Given the description of an element on the screen output the (x, y) to click on. 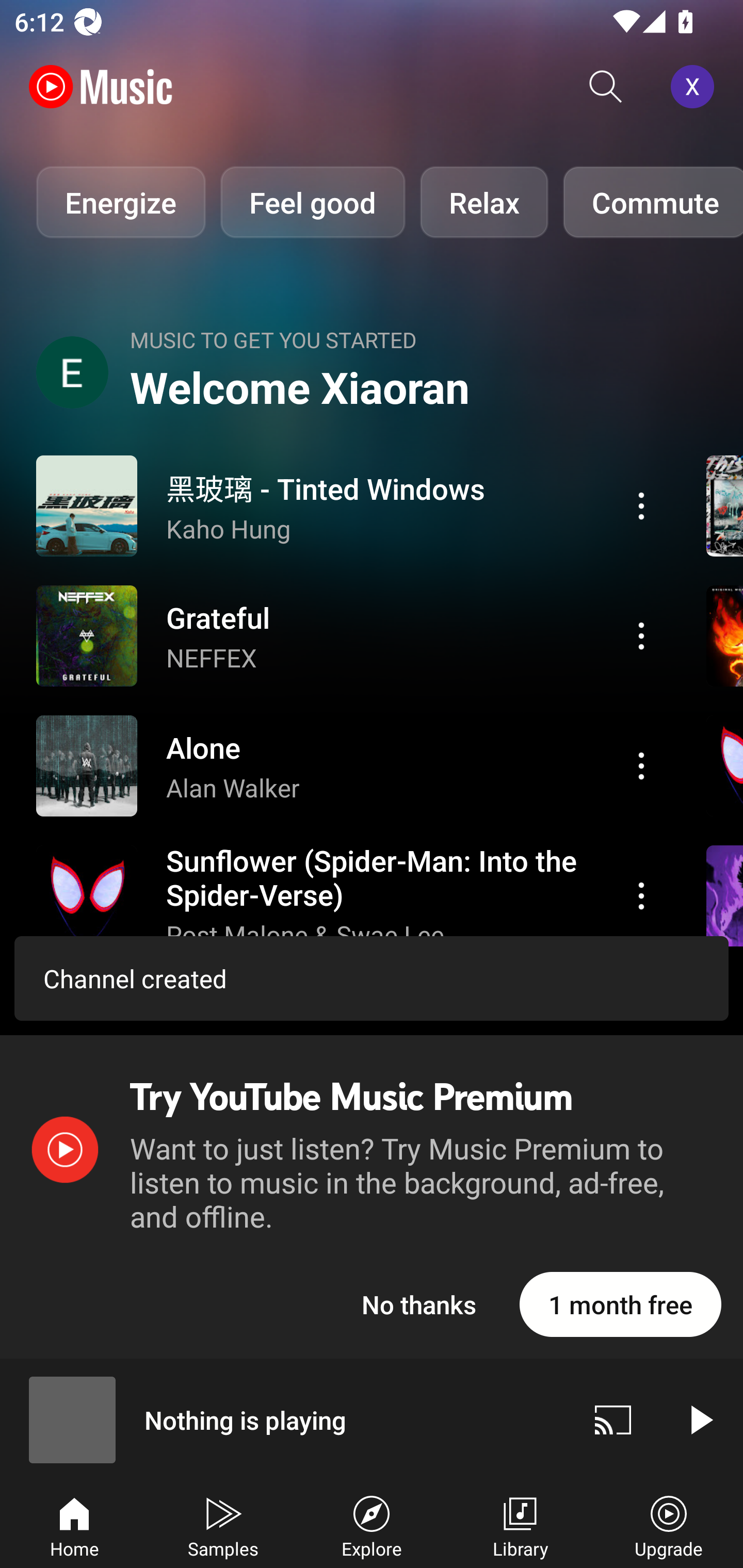
Search (605, 86)
Account (696, 86)
Action menu (349, 505)
Action menu (641, 505)
Action menu (349, 635)
Action menu (641, 635)
Action menu (349, 765)
Action menu (641, 765)
Action menu (349, 896)
Action menu (641, 896)
No thanks (418, 1304)
1 month free (620, 1304)
Nothing is playing (284, 1419)
Cast. Disconnected (612, 1419)
Play video (699, 1419)
Home (74, 1524)
Samples (222, 1524)
Explore (371, 1524)
Library (519, 1524)
Upgrade (668, 1524)
